Given the description of an element on the screen output the (x, y) to click on. 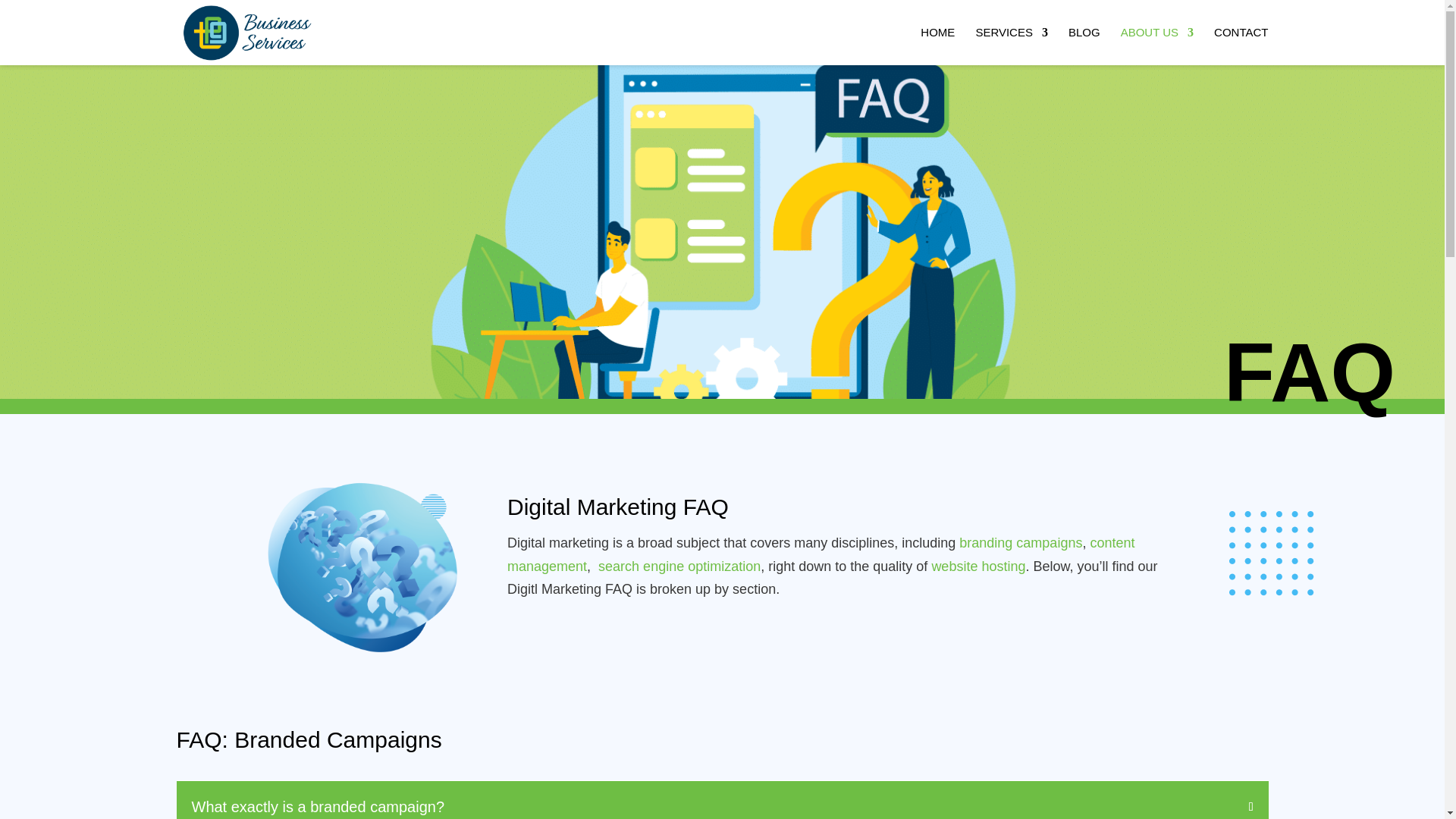
branding campaigns (1020, 542)
FAQ 694x718 (361, 575)
CONTACT (1241, 46)
search engine optimization (679, 566)
content management (820, 554)
website hosting (978, 566)
ABOUT US (1157, 46)
SERVICES (1011, 46)
HOME (937, 46)
